Given the description of an element on the screen output the (x, y) to click on. 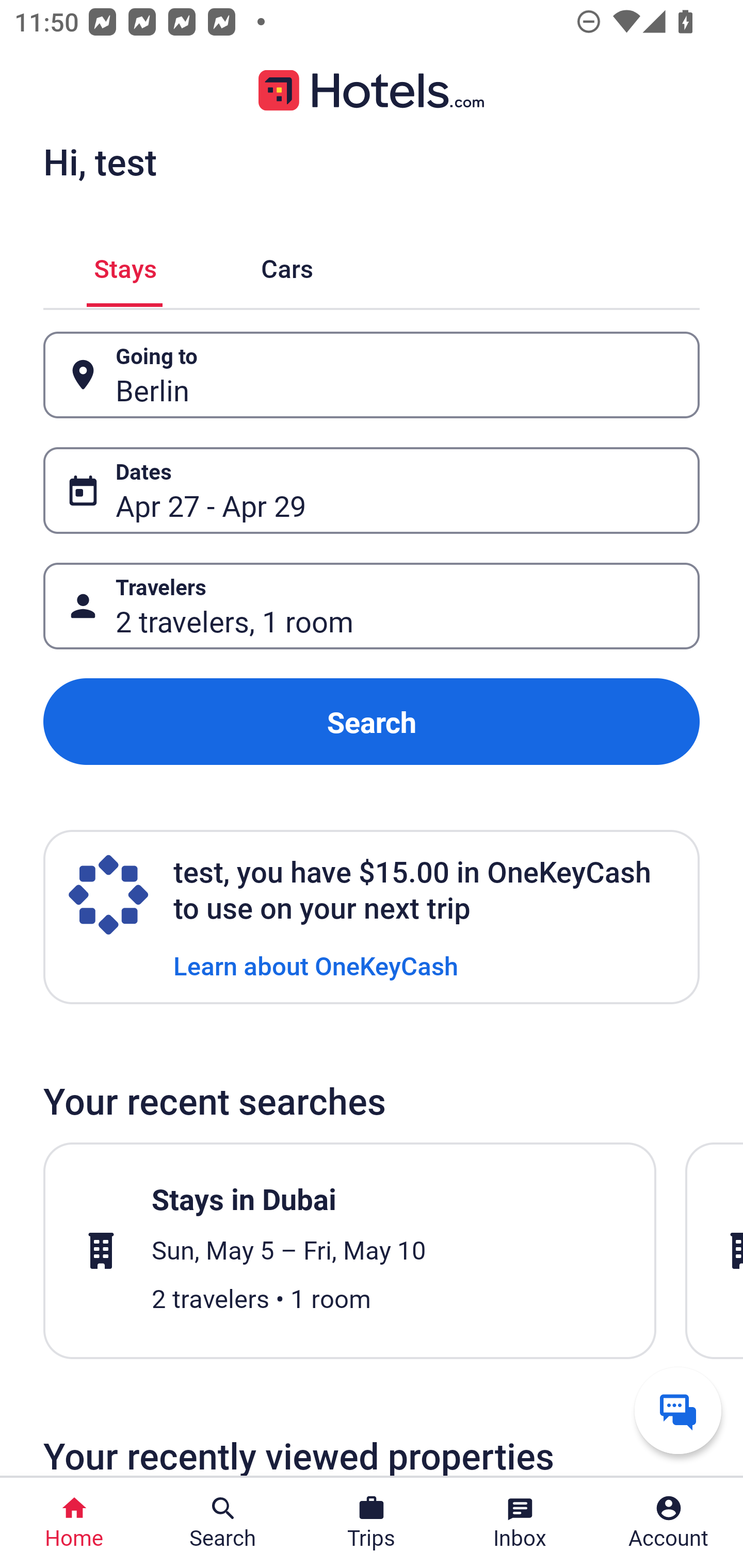
Hi, test (99, 161)
Cars (286, 265)
Going to Button Berlin (371, 375)
Dates Button Apr 27 - Apr 29 (371, 489)
Travelers Button 2 travelers, 1 room (371, 605)
Search (371, 721)
Learn about OneKeyCash Learn about OneKeyCash Link (315, 964)
Get help from a virtual agent (677, 1410)
Search Search Button (222, 1522)
Trips Trips Button (371, 1522)
Inbox Inbox Button (519, 1522)
Account Profile. Button (668, 1522)
